Given the description of an element on the screen output the (x, y) to click on. 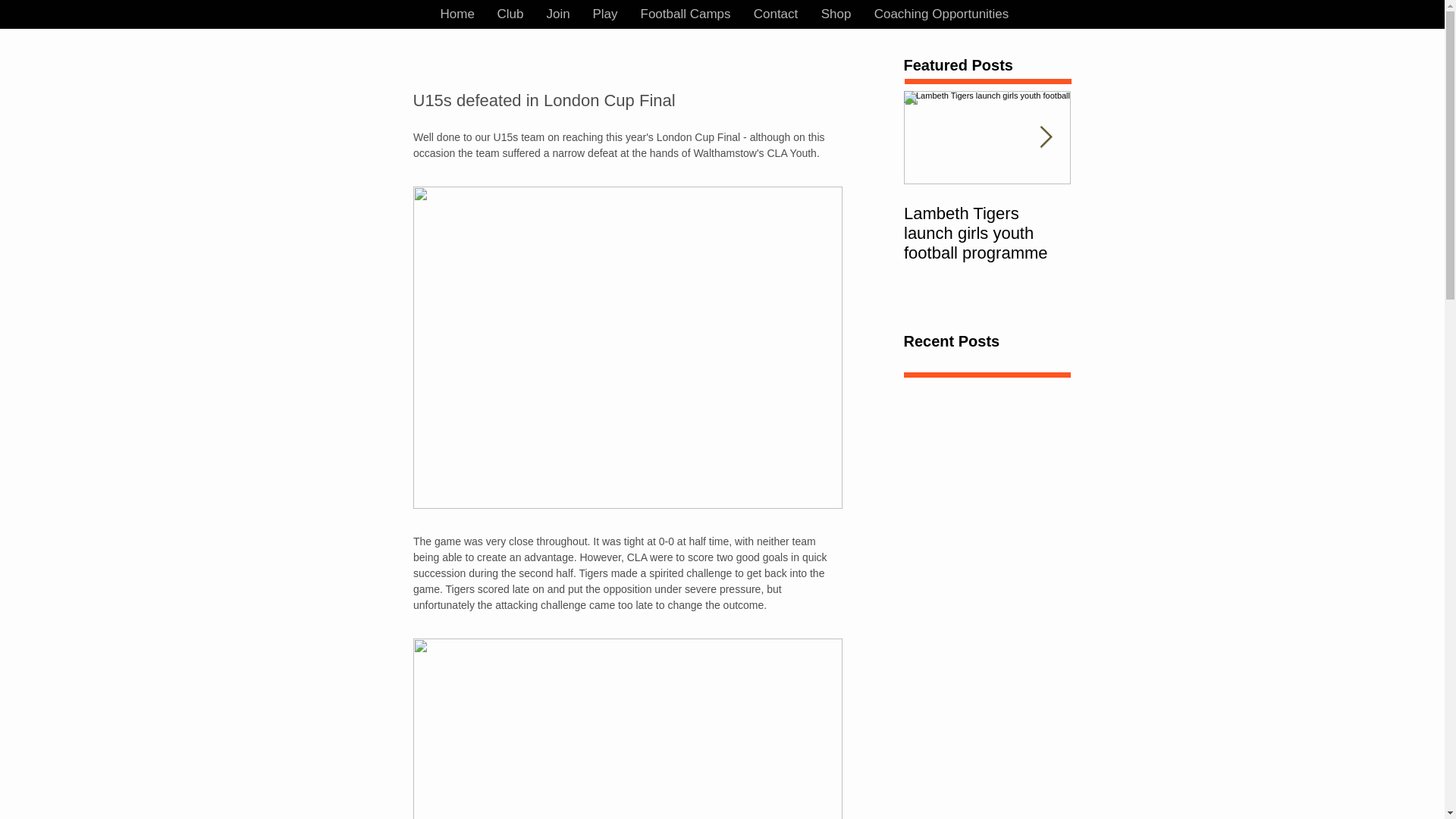
Coaching Opportunities (941, 13)
Contact (775, 13)
Shop (836, 13)
Lambeth Tigers launch girls youth football programme (987, 232)
Play (604, 13)
Home (457, 13)
